Given the description of an element on the screen output the (x, y) to click on. 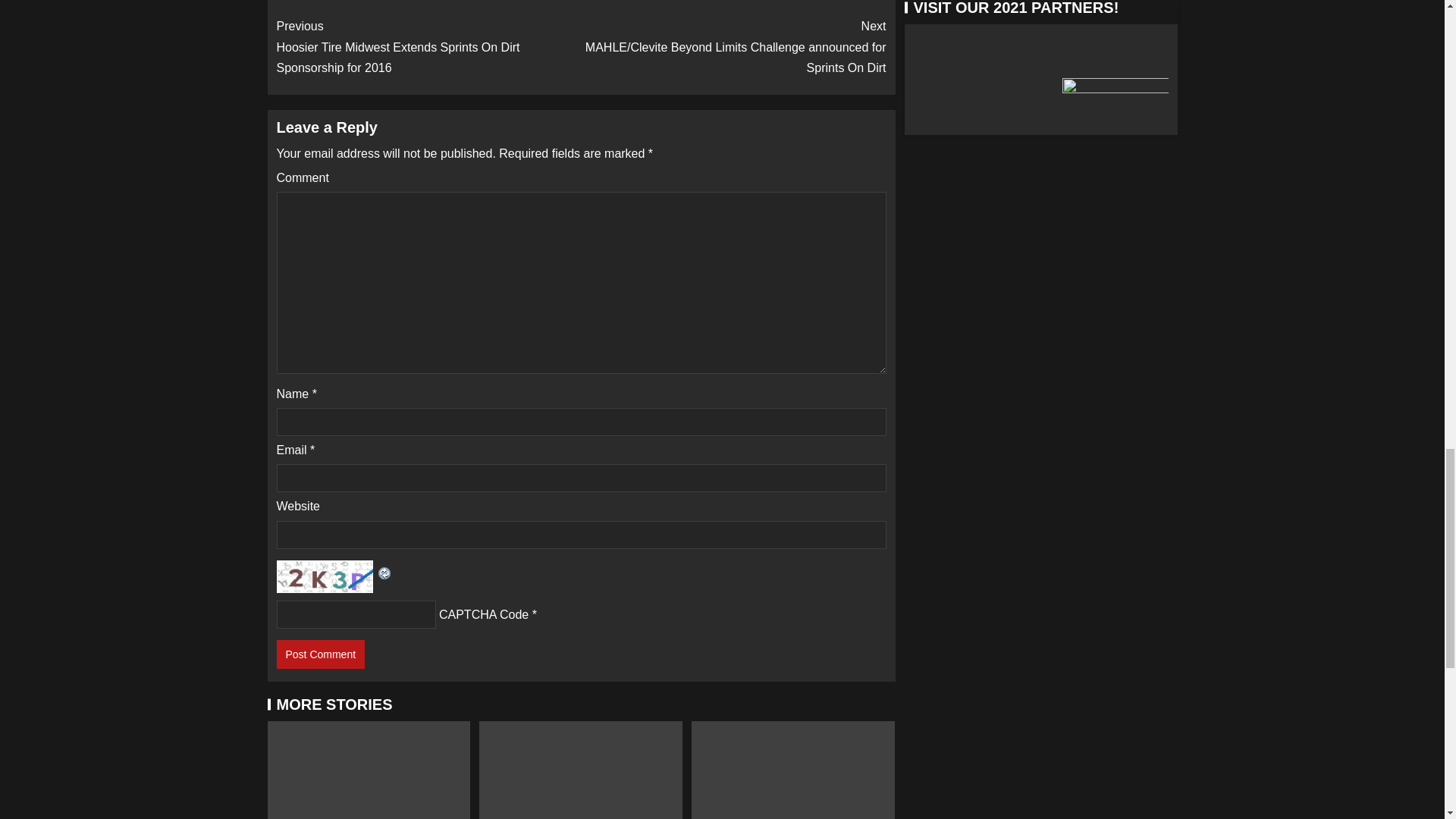
Post Comment (320, 654)
CAPTCHA (325, 575)
Refresh (384, 570)
